Given the description of an element on the screen output the (x, y) to click on. 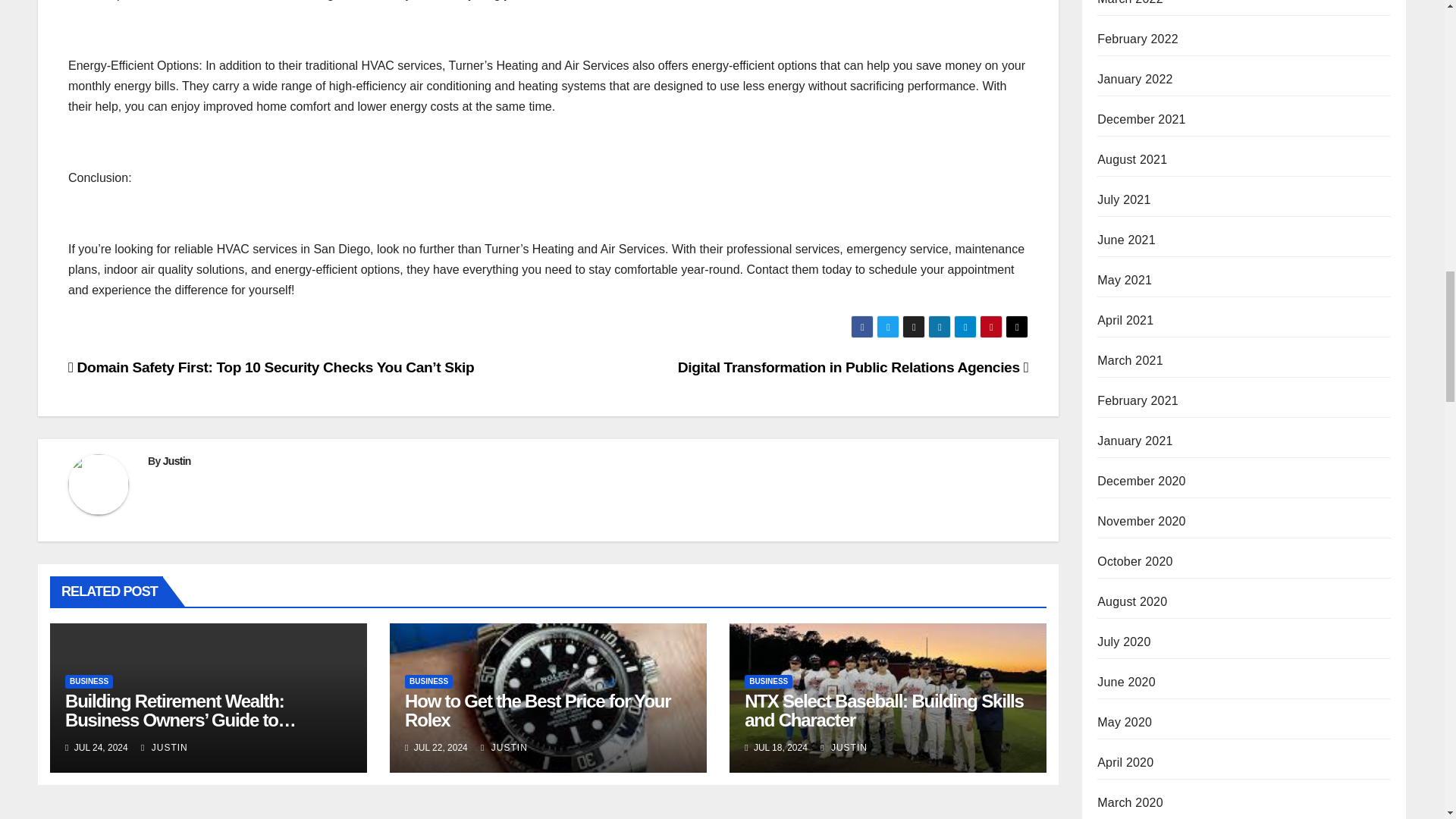
How to Get the Best Price for Your Rolex (536, 710)
BUSINESS (428, 681)
Digital Transformation in Public Relations Agencies (853, 367)
BUSINESS (89, 681)
JUSTIN (164, 747)
Justin (176, 460)
Permalink to: How to Get the Best Price for Your Rolex (536, 710)
